Given the description of an element on the screen output the (x, y) to click on. 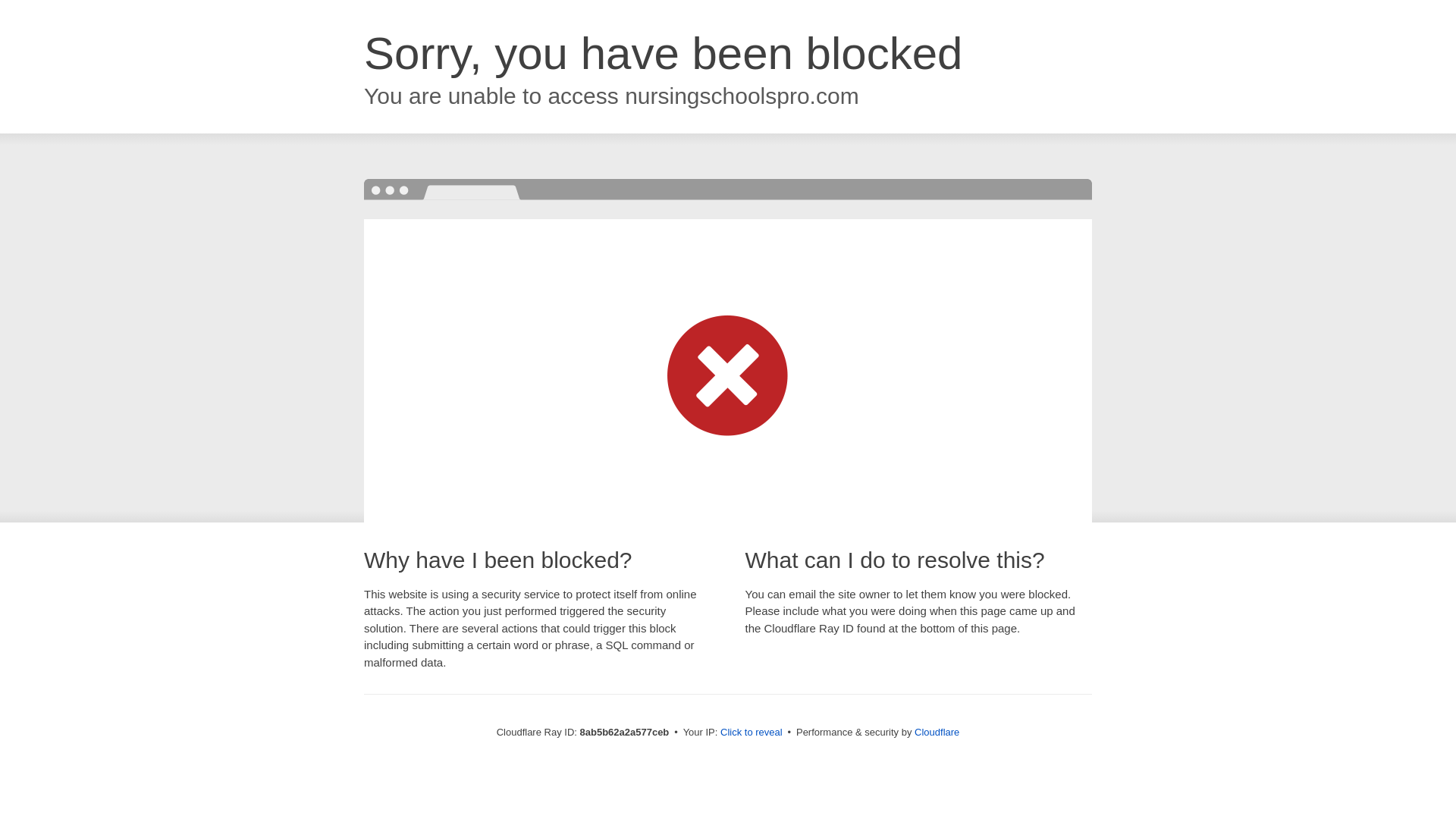
Click to reveal (751, 732)
Cloudflare (936, 731)
